Given the description of an element on the screen output the (x, y) to click on. 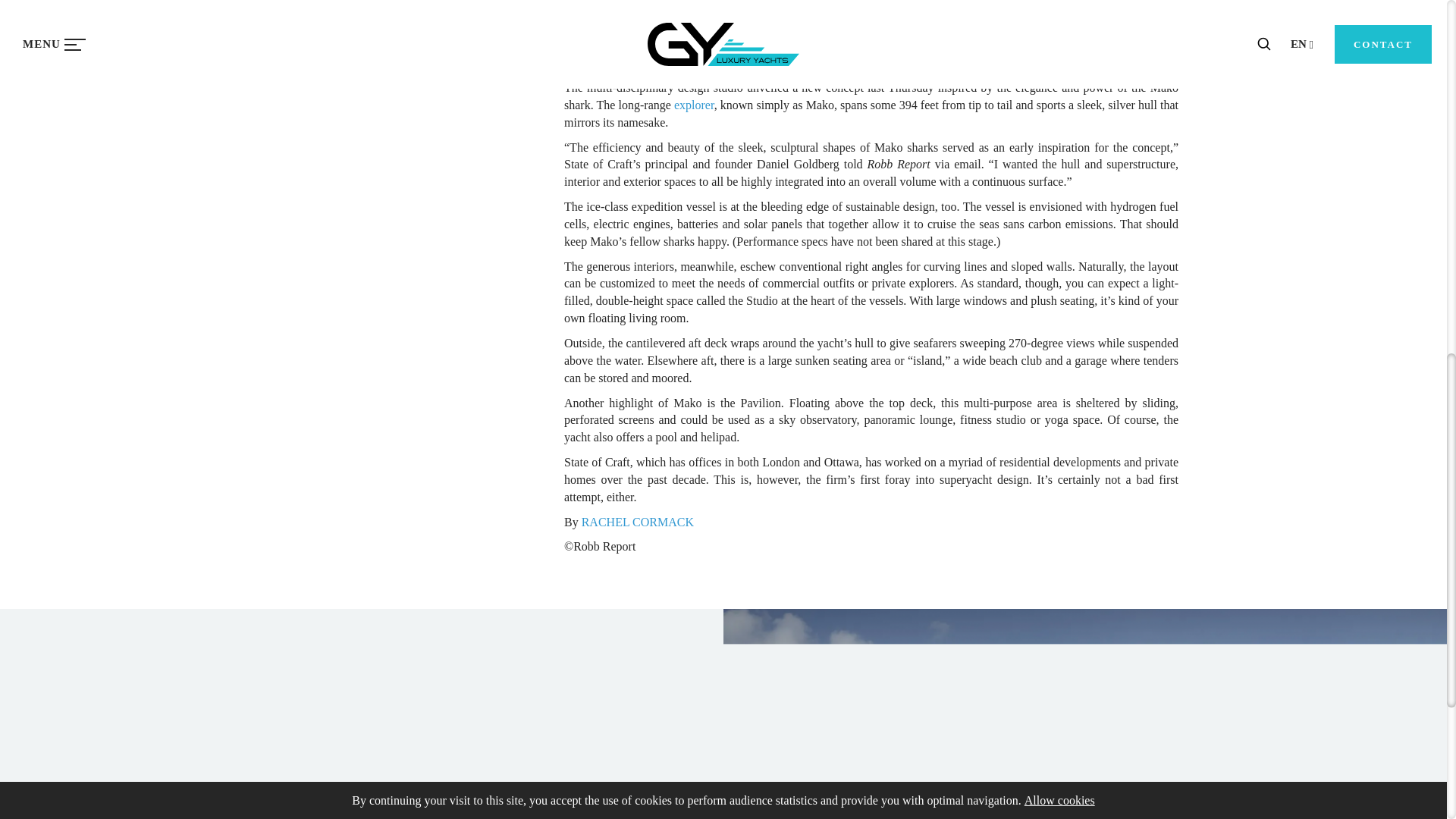
superyacht (1123, 62)
RACHEL CORMACK (637, 521)
explorer (694, 104)
